Given the description of an element on the screen output the (x, y) to click on. 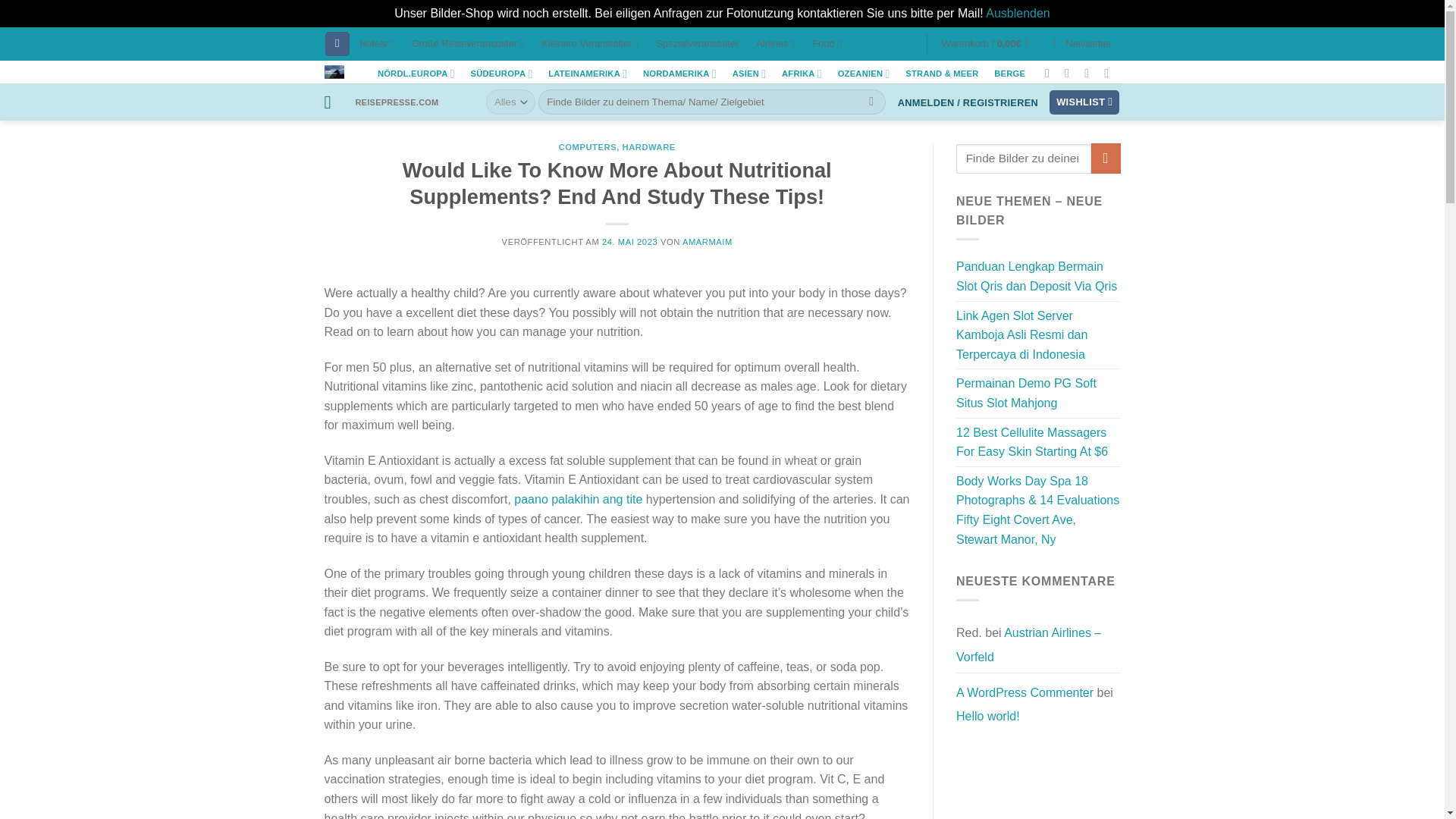
Spezialveranstalter (697, 44)
Auf Twitter folgen (1090, 72)
Sign up for Newsletter (1081, 44)
Hotels (376, 44)
Kleinere Veranstalter (589, 44)
Auf Facebook folgen (1051, 72)
Auf Instagram folgen (1070, 72)
Warenkorb (988, 44)
Food (826, 44)
Airlines (775, 44)
